Given the description of an element on the screen output the (x, y) to click on. 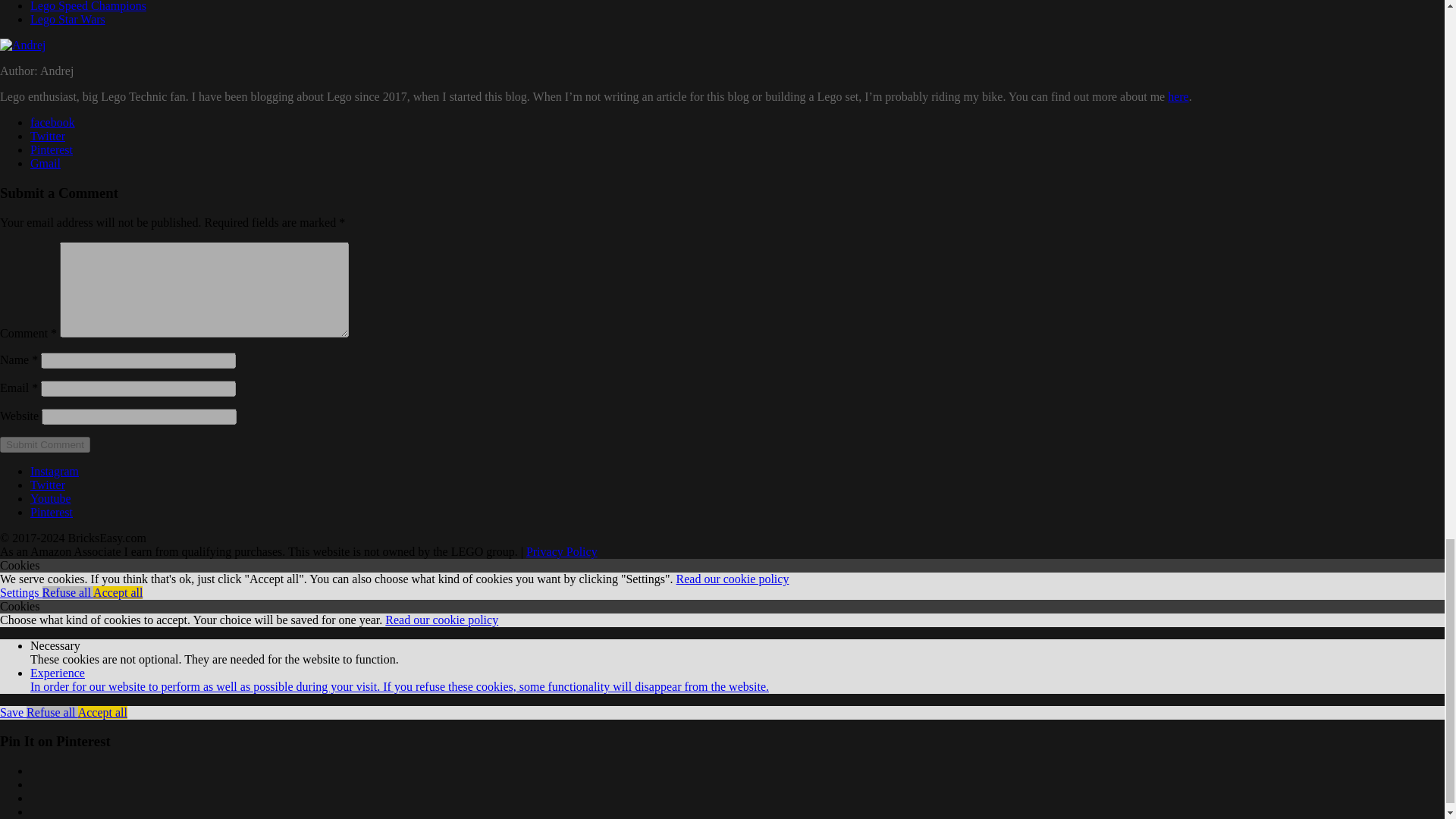
Submit Comment (45, 444)
here (1178, 96)
Lego Speed Champions (88, 6)
Lego Star Wars (67, 19)
